Given the description of an element on the screen output the (x, y) to click on. 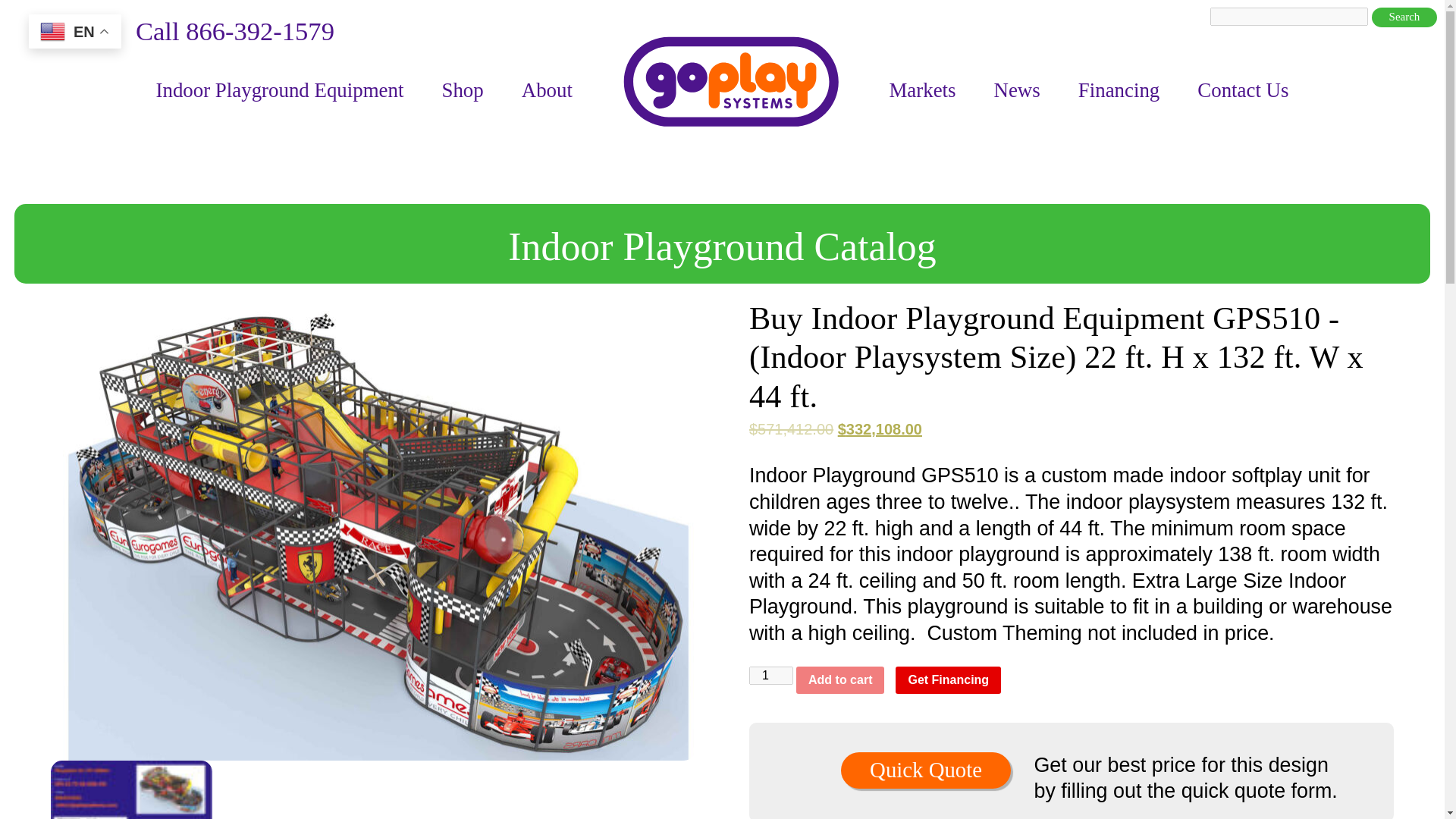
GPS-22-132-44-5808-510-1.jpg (130, 789)
Search (1404, 17)
Indoor Playground Equipment (279, 89)
1 (771, 675)
Search (1404, 17)
